Given the description of an element on the screen output the (x, y) to click on. 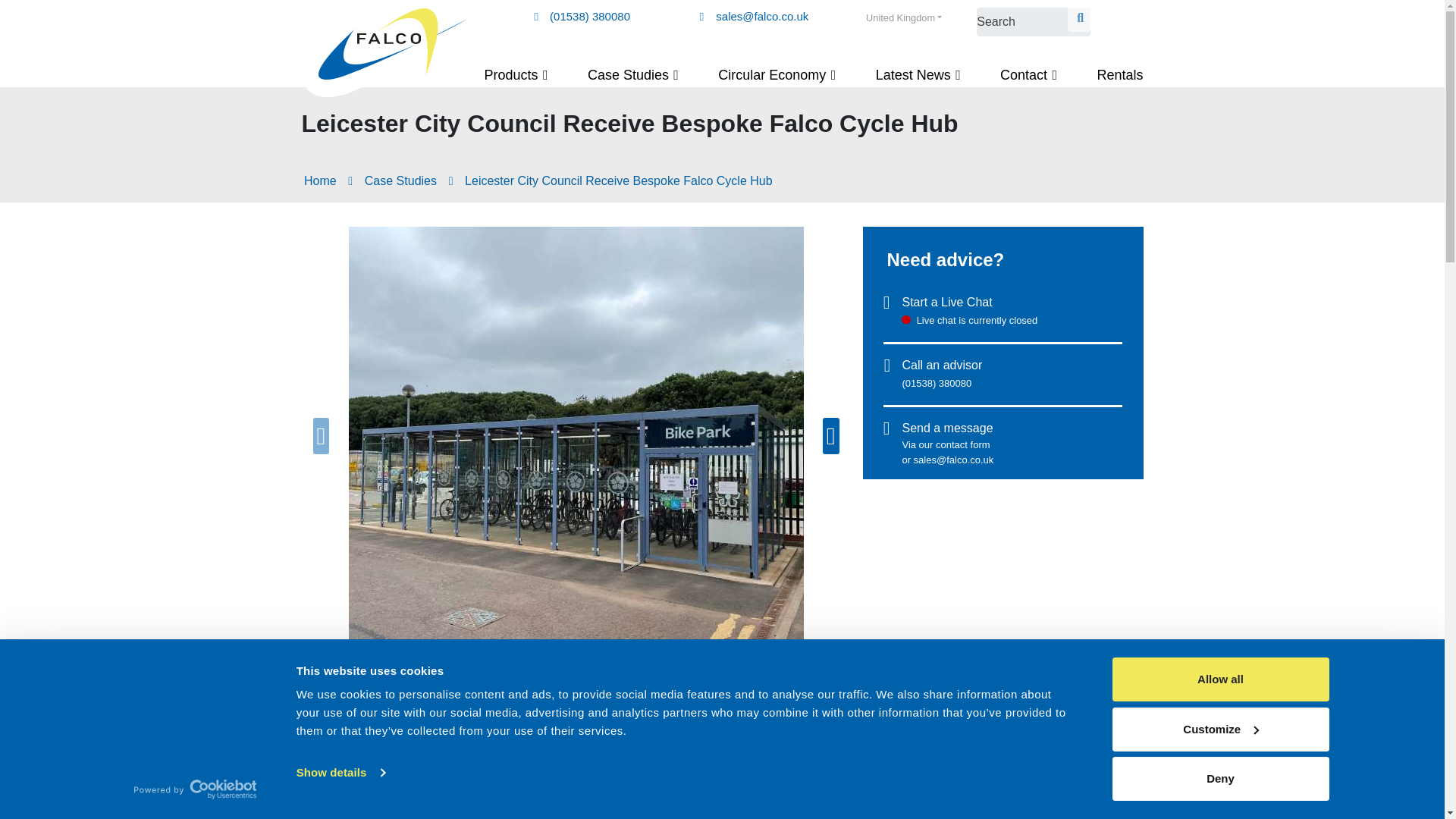
Deny (1219, 778)
Allow all (1219, 679)
Customize (1219, 728)
Show details (340, 772)
